Given the description of an element on the screen output the (x, y) to click on. 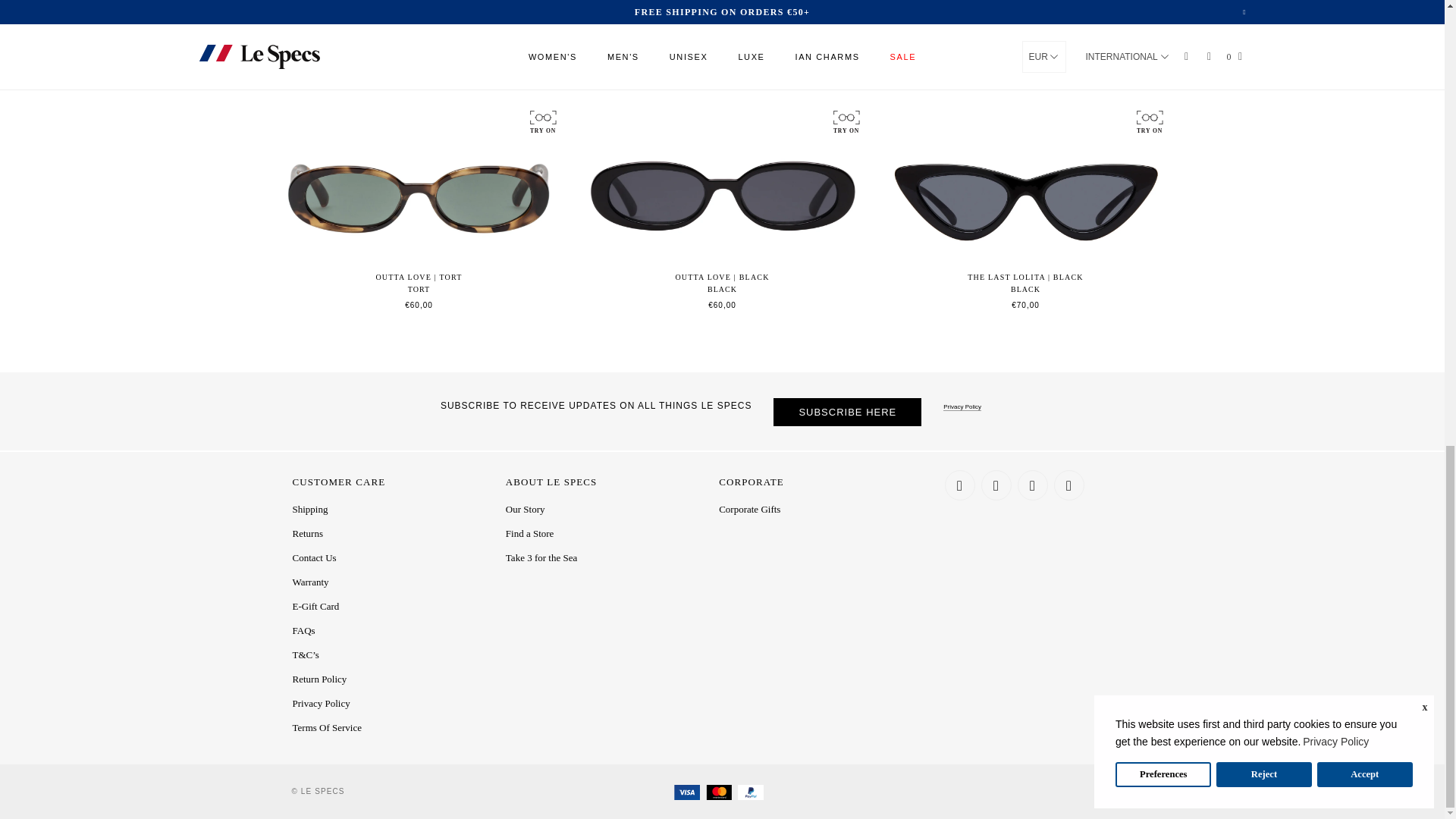
TRY ON (844, 121)
TRY ON (1147, 121)
TRY ON (541, 121)
